Given the description of an element on the screen output the (x, y) to click on. 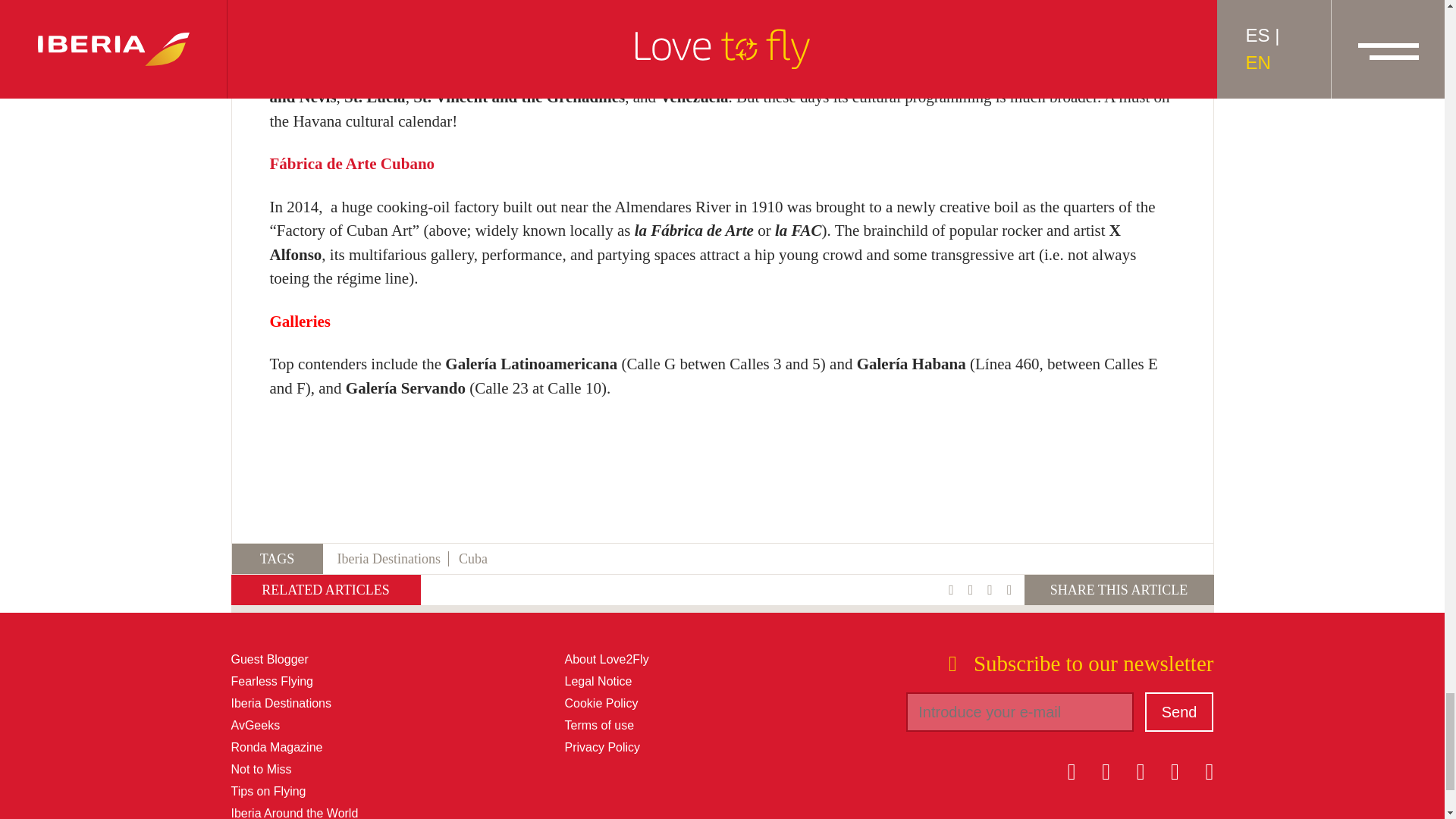
Iberia Destinations (392, 558)
Casa del ALBA Cultural (352, 7)
Cuba (472, 558)
